Given the description of an element on the screen output the (x, y) to click on. 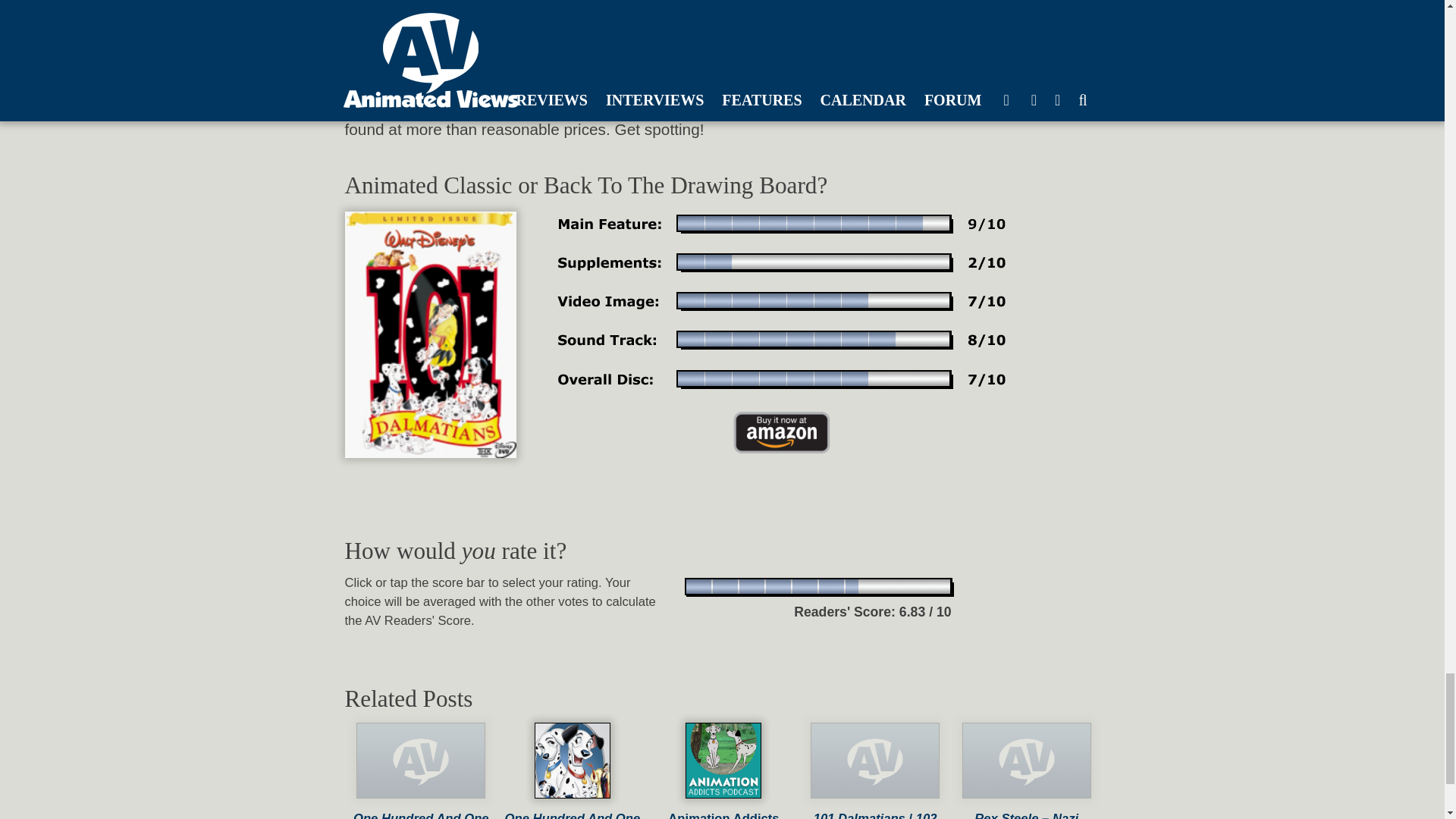
One Hundred And One Dalmatians: Platinum Edition (421, 805)
One Hundred And One Dalmatians: Diamond Edition (572, 805)
One Hundred And One Dalmatians: Platinum Edition (421, 805)
One Hundred And One Dalmatians: Diamond Edition (572, 805)
